Given the description of an element on the screen output the (x, y) to click on. 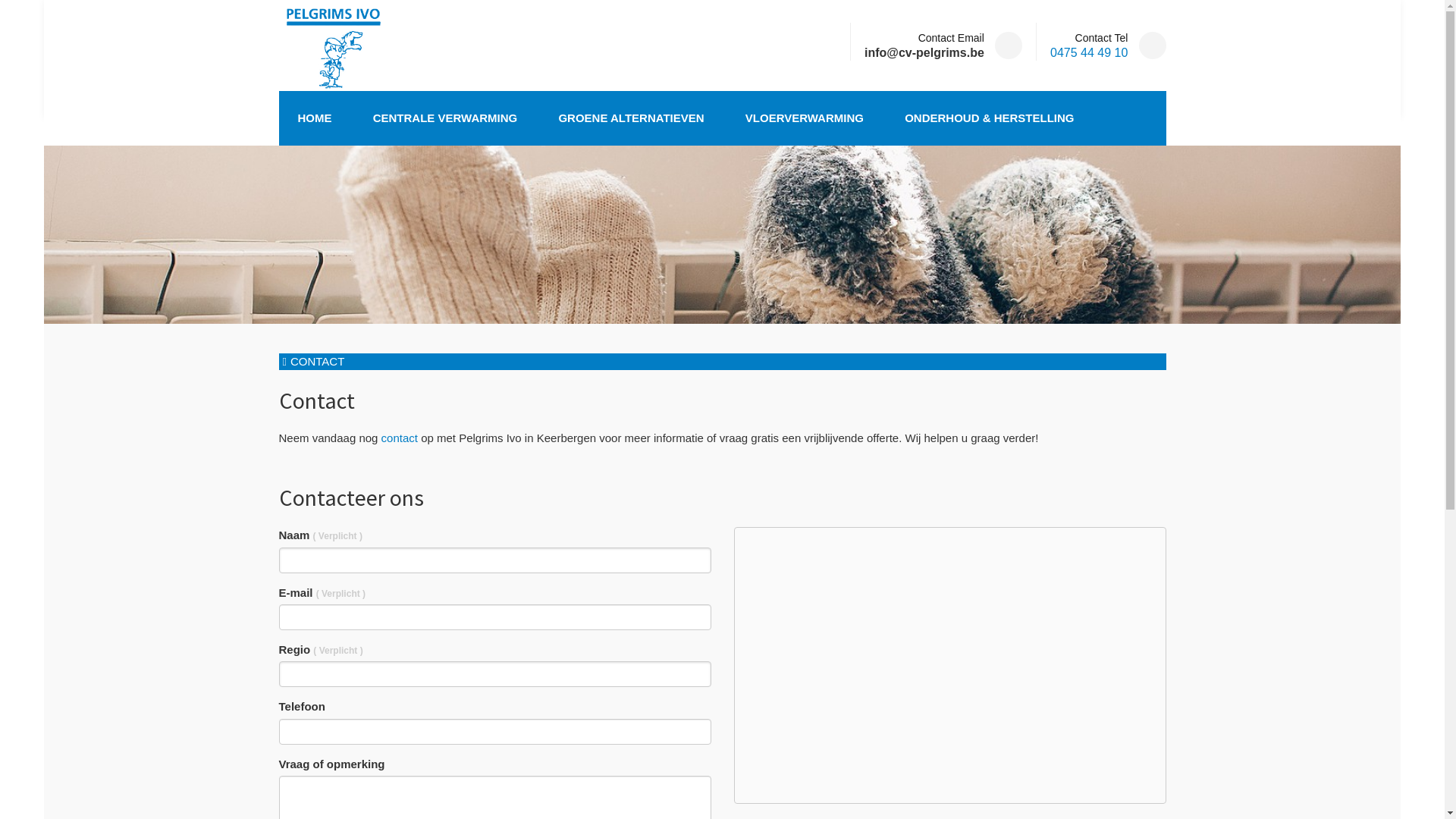
CENTRALE VERWARMING Element type: text (445, 118)
contact Element type: text (399, 437)
GROENE ALTERNATIEVEN Element type: text (630, 118)
VLOERVERWARMING Element type: text (804, 118)
info@cv-pelgrims.be Element type: text (924, 53)
0475 44 49 10 Element type: text (1088, 52)
ONDERHOUD & HERSTELLING Element type: text (988, 118)
CONTACT Element type: text (317, 360)
HOME Element type: text (314, 118)
